Given the description of an element on the screen output the (x, y) to click on. 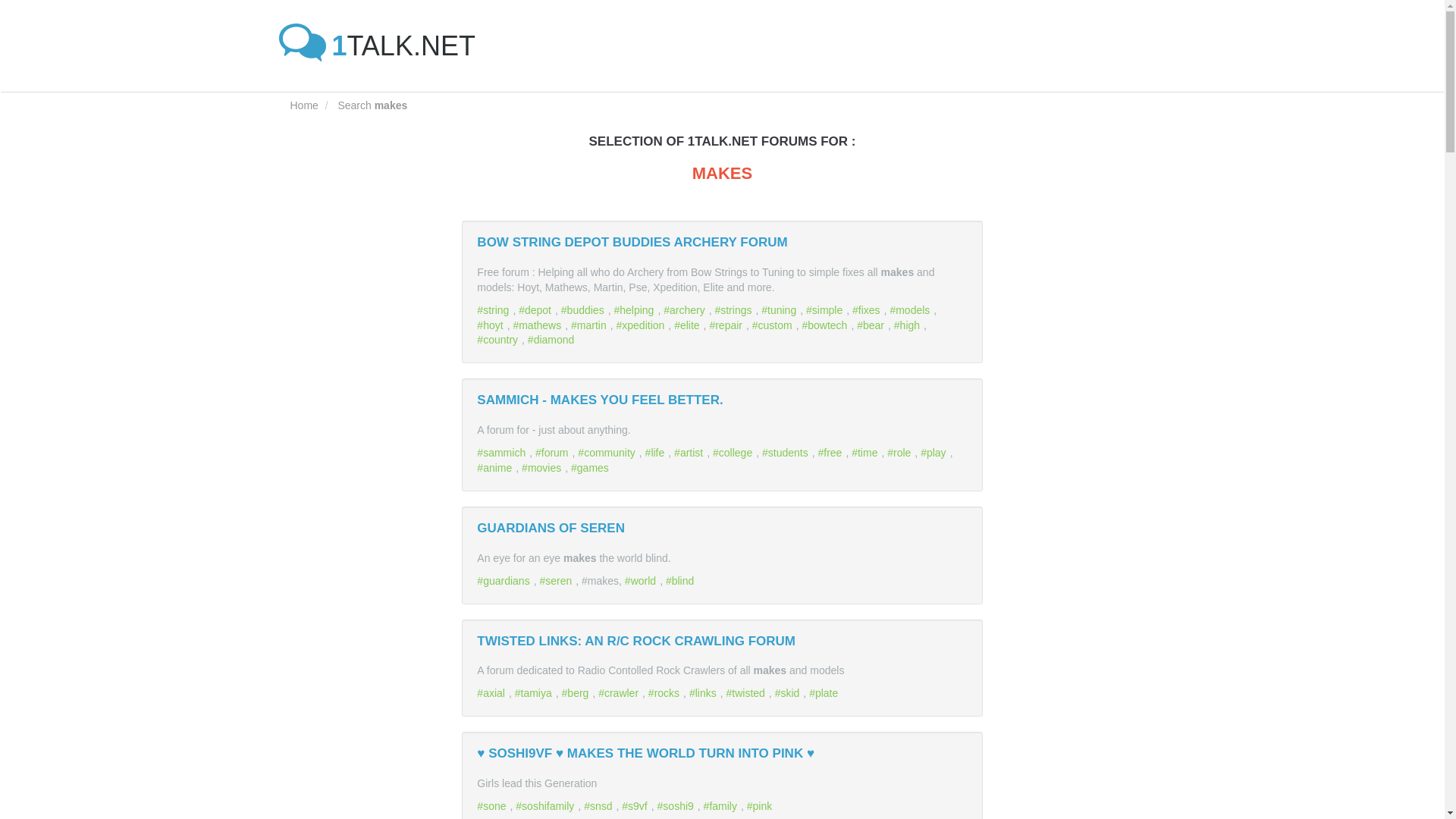
xpedition (641, 324)
repair (727, 324)
elite (688, 324)
models (911, 309)
depot (536, 309)
life (656, 452)
college (734, 452)
Home (303, 105)
custom (774, 324)
Bow String Depot Buddies Archery Forum (632, 242)
country (499, 339)
hoyt (491, 324)
community (608, 452)
repair (727, 324)
free (830, 452)
